Given the description of an element on the screen output the (x, y) to click on. 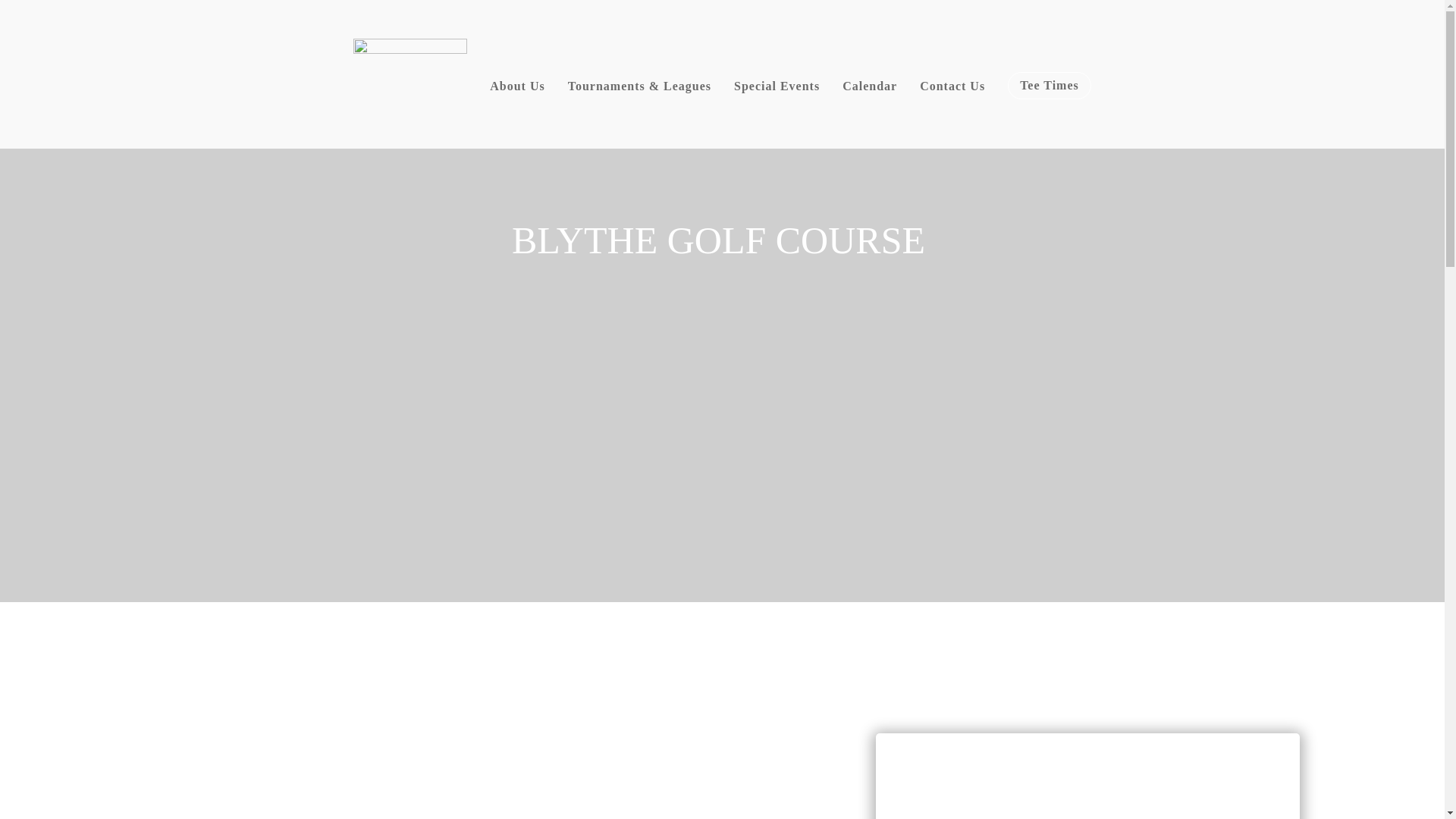
Special Events (776, 86)
About Us (516, 86)
Contact Us (952, 86)
Tee Times (1048, 85)
Calendar (869, 86)
